Given the description of an element on the screen output the (x, y) to click on. 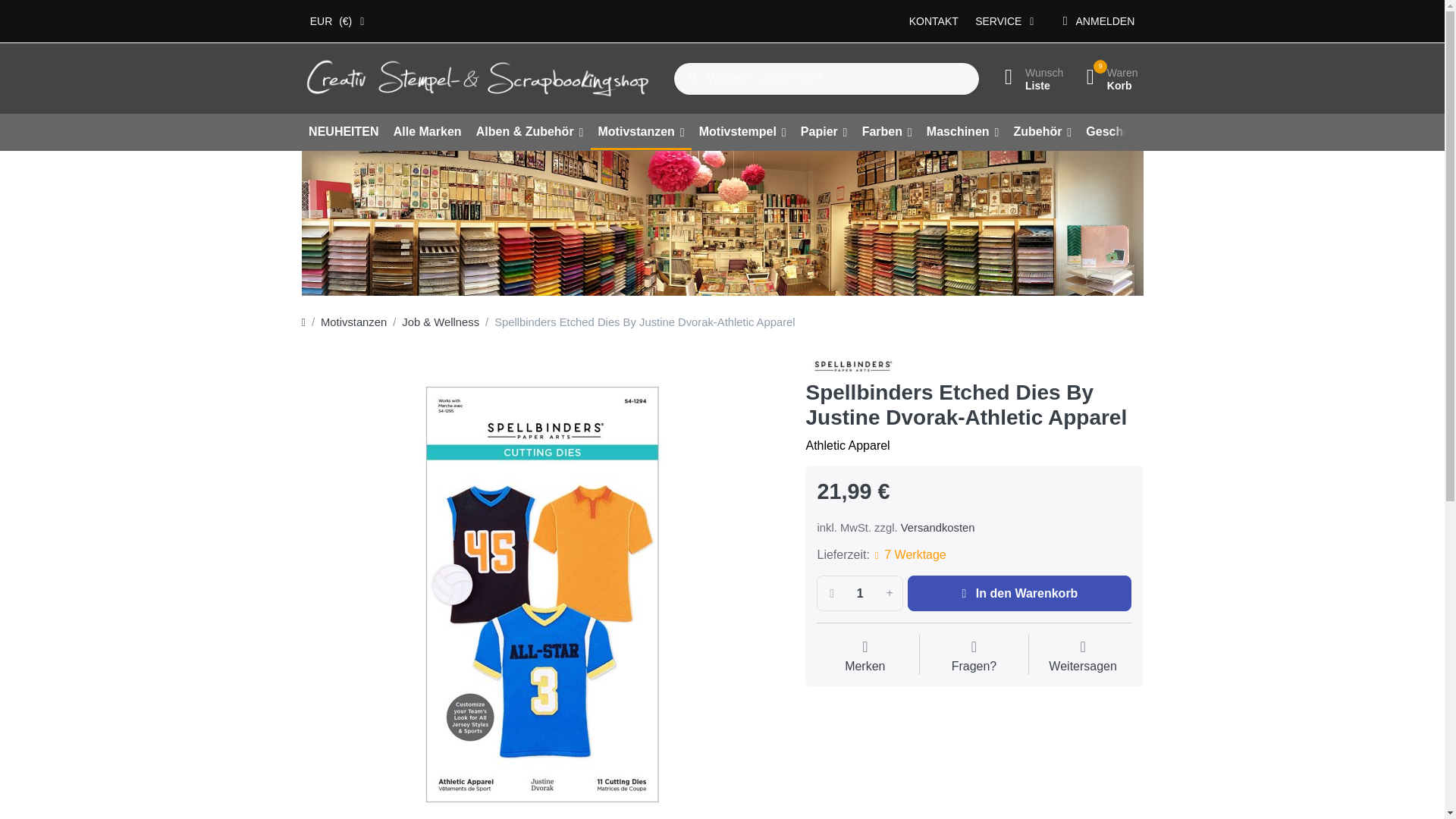
Motivstempel (742, 131)
Geschenke (1122, 131)
ANMELDEN (1098, 21)
Papier (823, 131)
Maschinen (1029, 78)
1 (962, 131)
Alle Marken (859, 592)
Fragen zum Artikel? (426, 131)
KONTAKT (974, 656)
Lieferzeit: 7 Werktage (933, 21)
Alle Produkte von SPELLBINDERS (1107, 78)
Farben (907, 555)
Motivstanzen (853, 365)
